Given the description of an element on the screen output the (x, y) to click on. 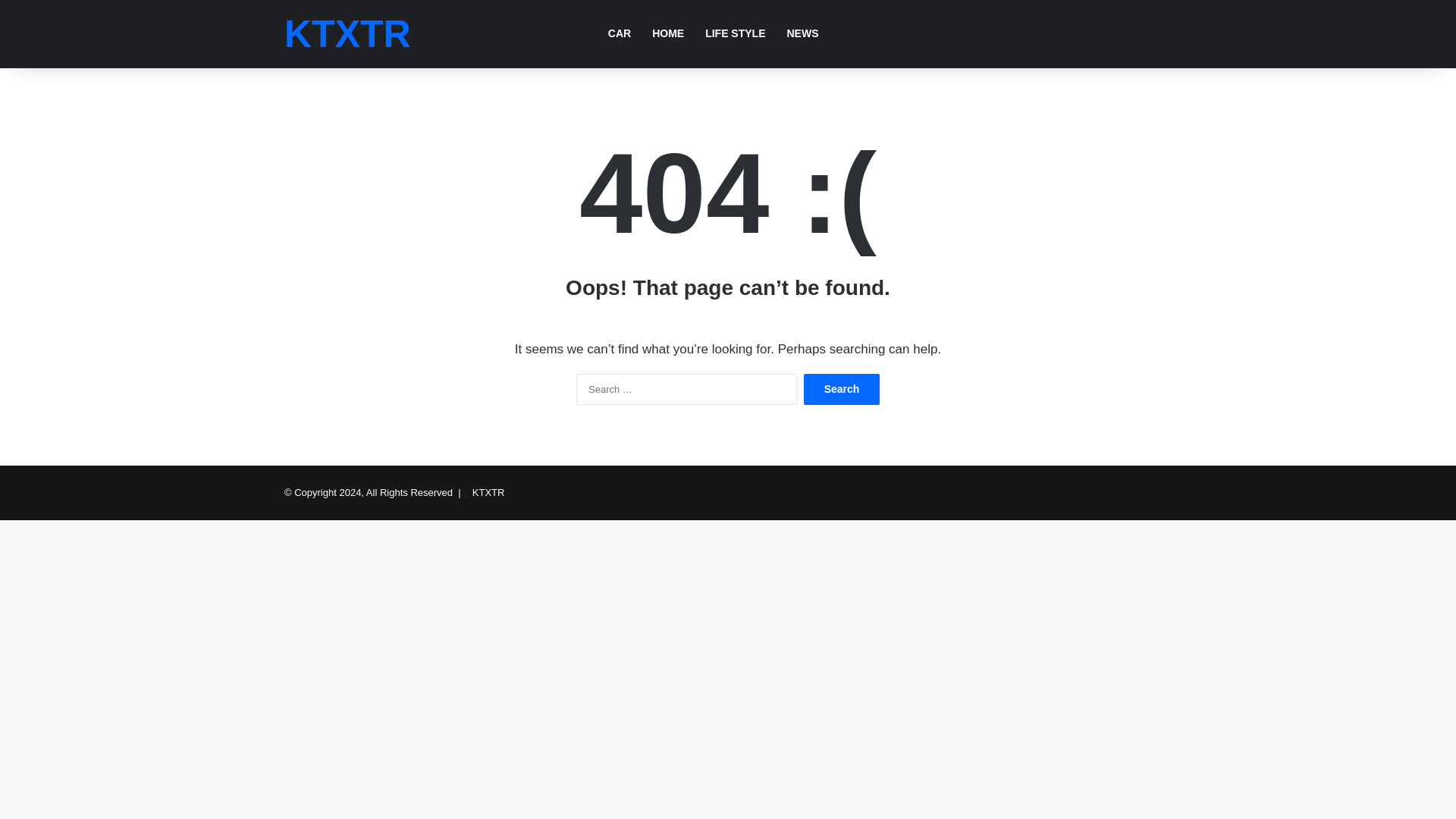
LIFE STYLE (735, 33)
Search (841, 388)
KTXTR (346, 34)
KTXTR (346, 34)
Search (841, 388)
KTXTR (488, 491)
Search (841, 388)
